Given the description of an element on the screen output the (x, y) to click on. 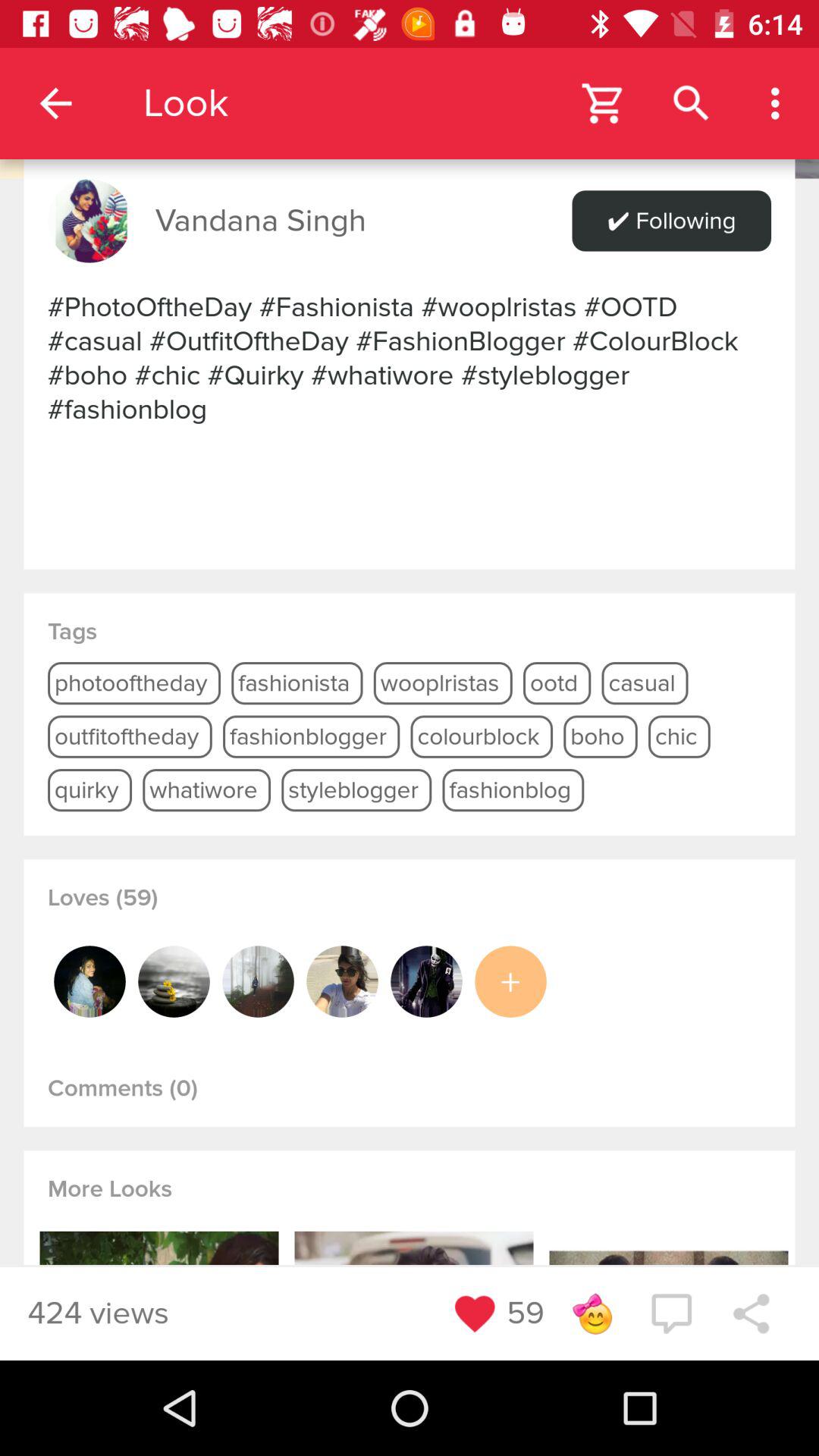
tap icon next to vandana singh item (89, 220)
